Given the description of an element on the screen output the (x, y) to click on. 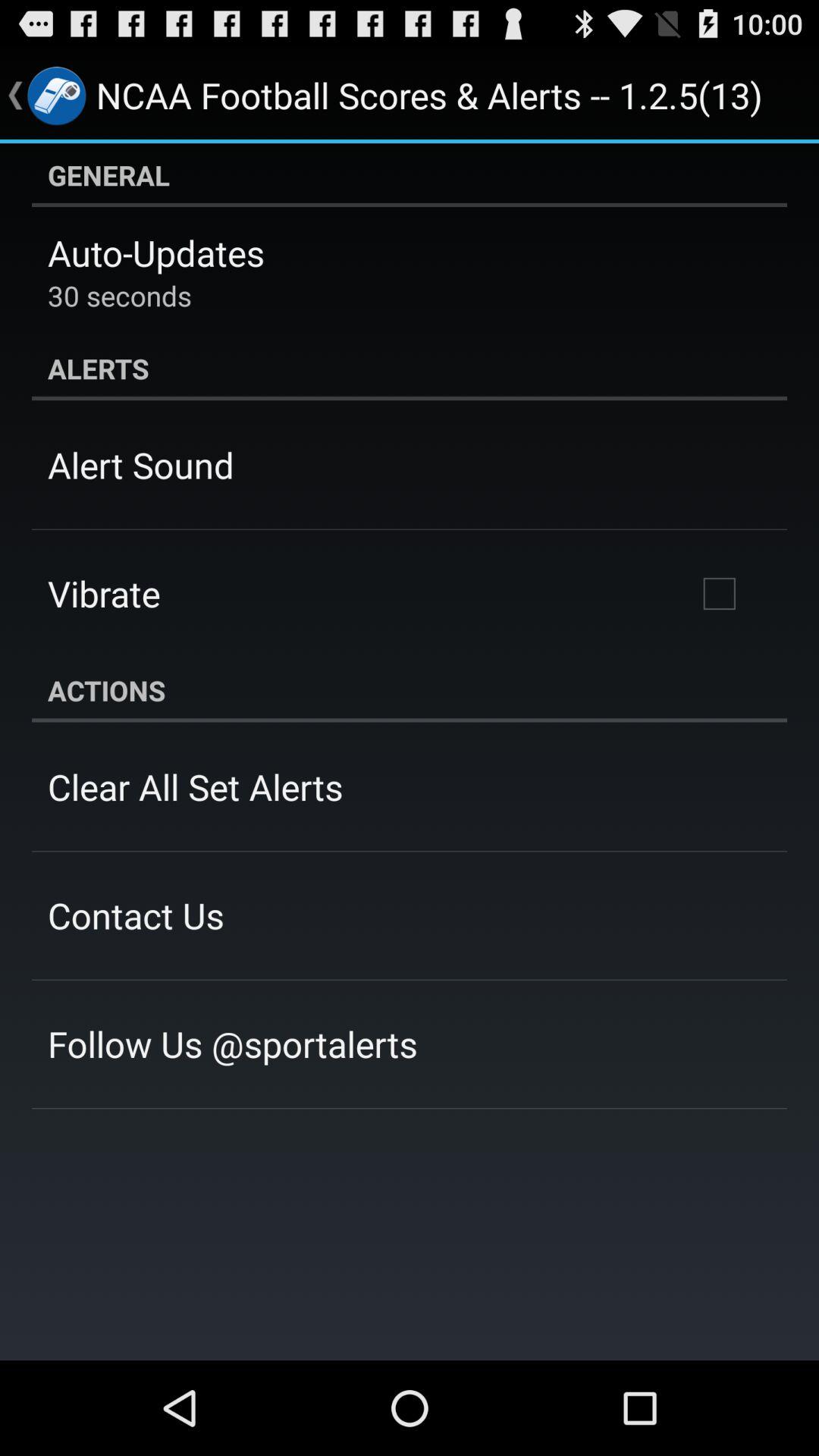
click on image next to left arrow at top (55, 95)
select third row right check box (719, 594)
